Given the description of an element on the screen output the (x, y) to click on. 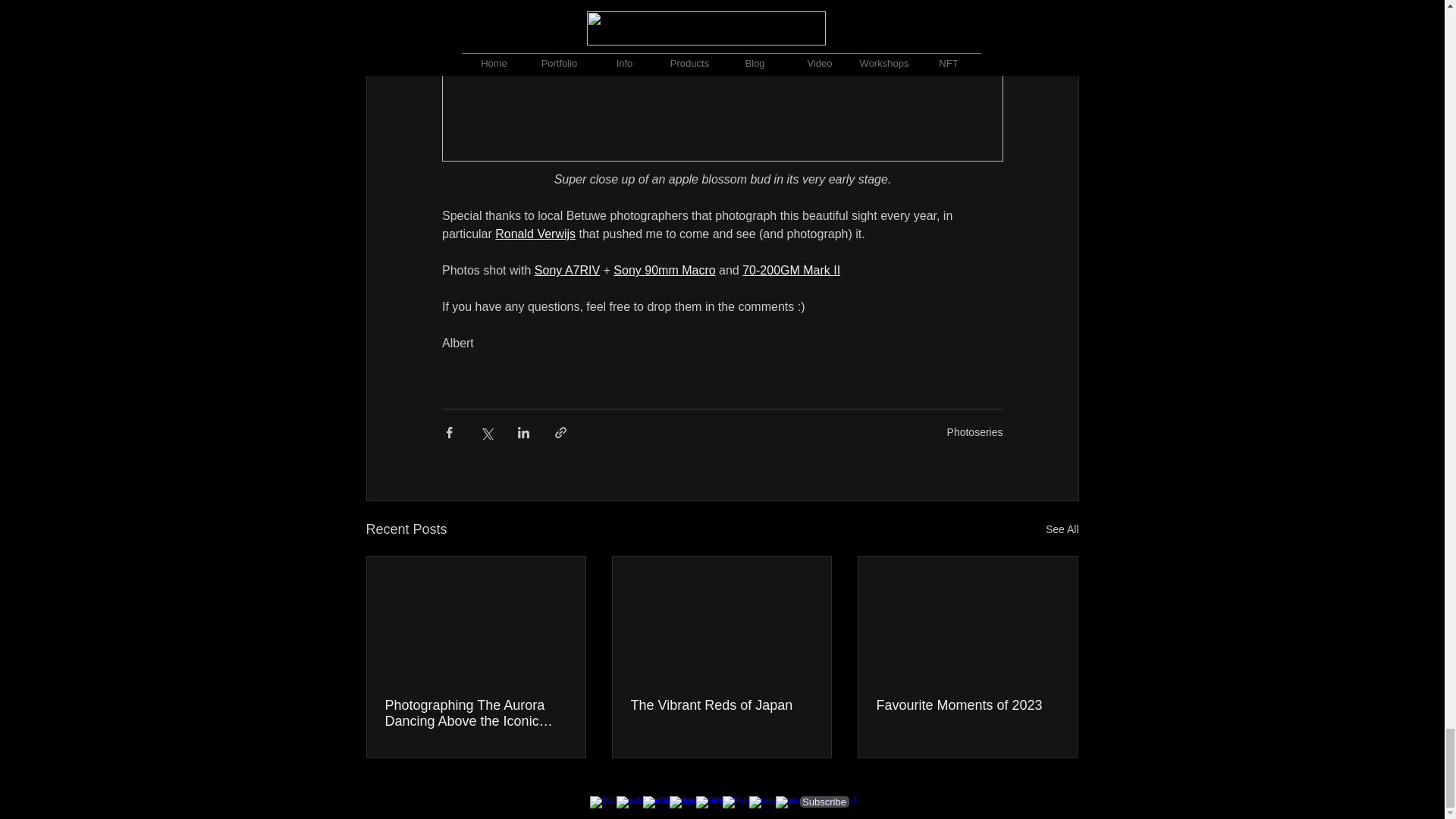
Sony A7RIV (566, 269)
Ronald Verwijs (535, 233)
